Given the description of an element on the screen output the (x, y) to click on. 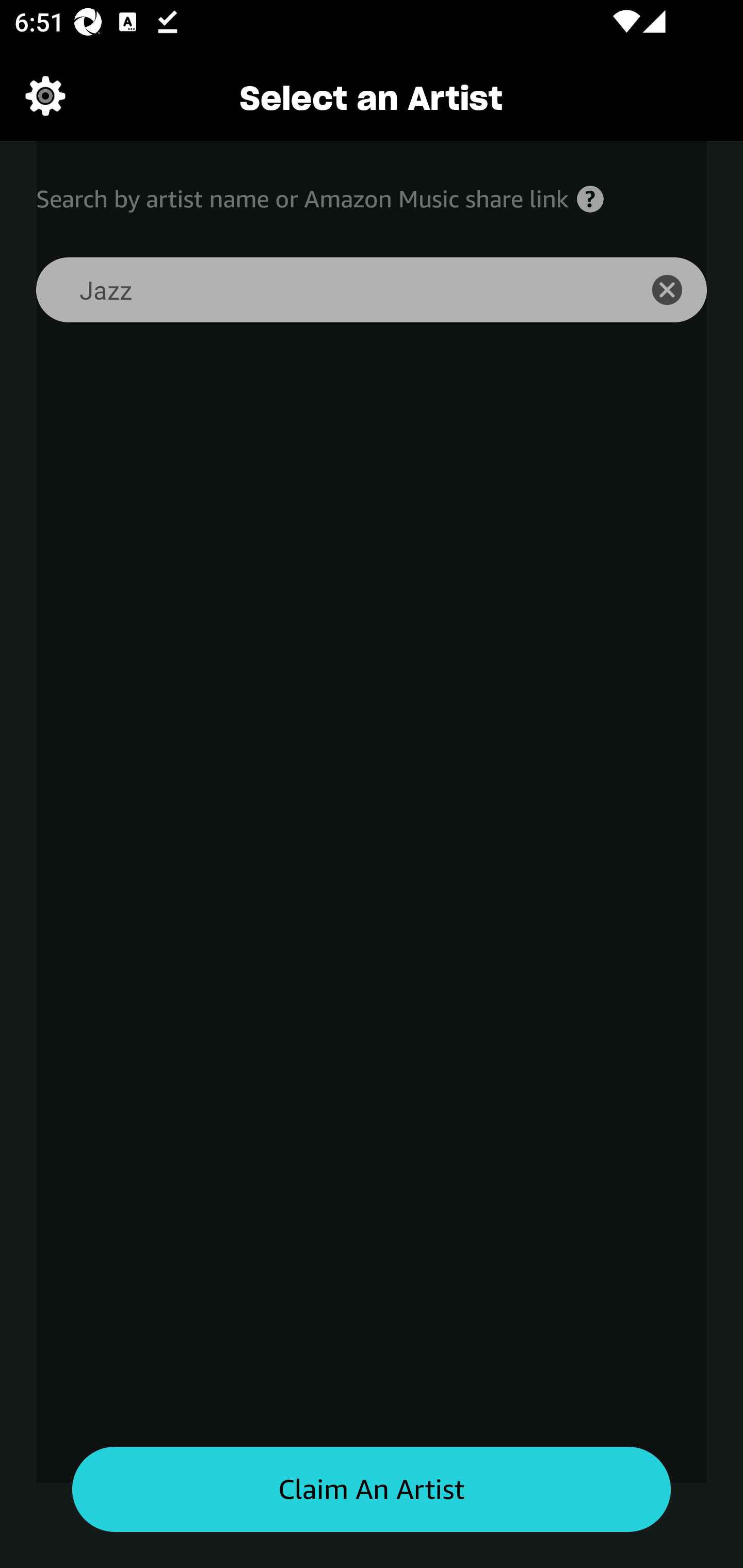
Help  icon (589, 199)
Jazz Search for an artist search bar (324, 290)
 icon (677, 290)
Claim an artist button Claim An Artist (371, 1489)
